Given the description of an element on the screen output the (x, y) to click on. 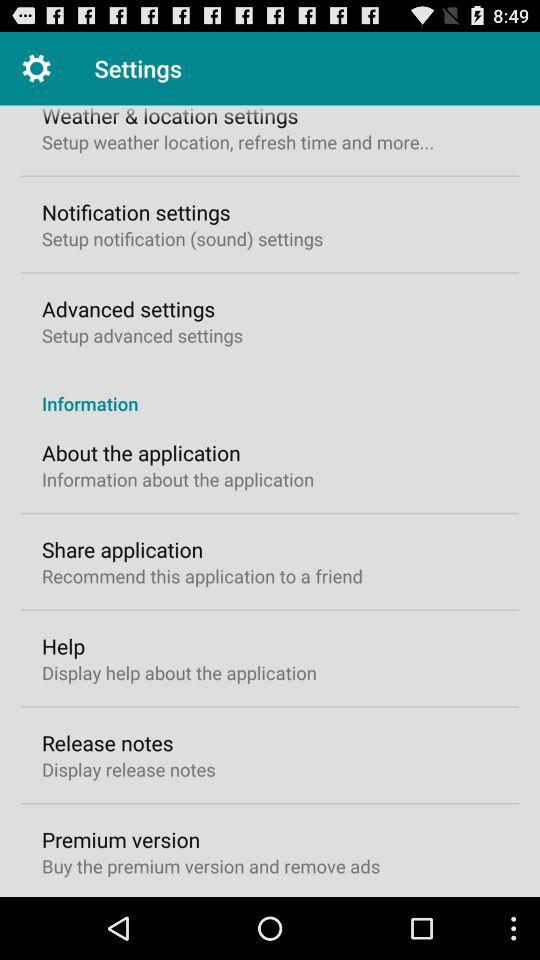
turn off the icon below the premium version icon (211, 865)
